Given the description of an element on the screen output the (x, y) to click on. 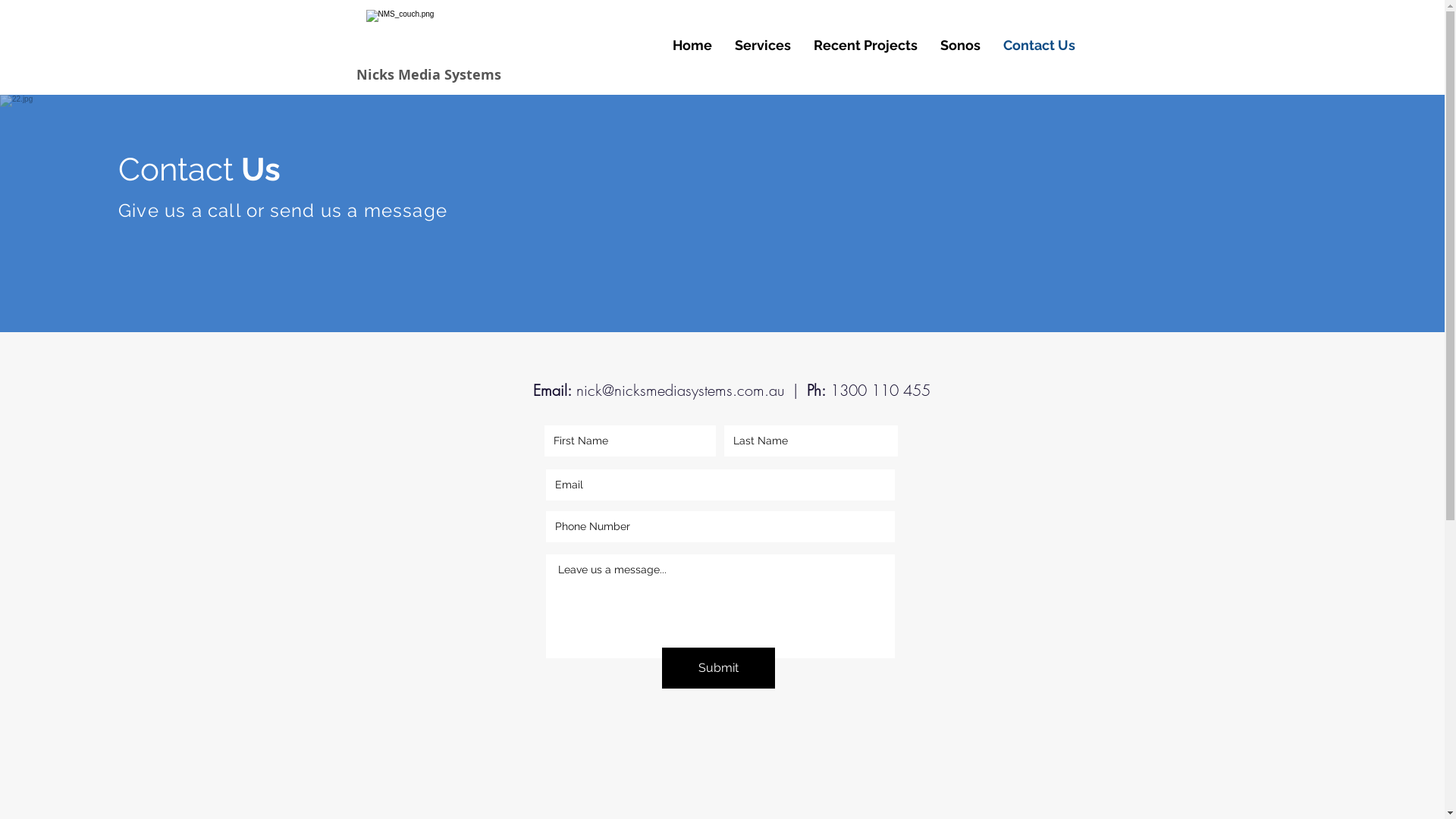
Recent Projects Element type: text (865, 45)
Sonos Element type: text (959, 45)
Home Element type: text (692, 45)
Contact Us Element type: text (1038, 45)
nick@nicksmediasystems.com.au Element type: text (680, 389)
Submit Element type: text (717, 667)
Services Element type: text (762, 45)
